Given the description of an element on the screen output the (x, y) to click on. 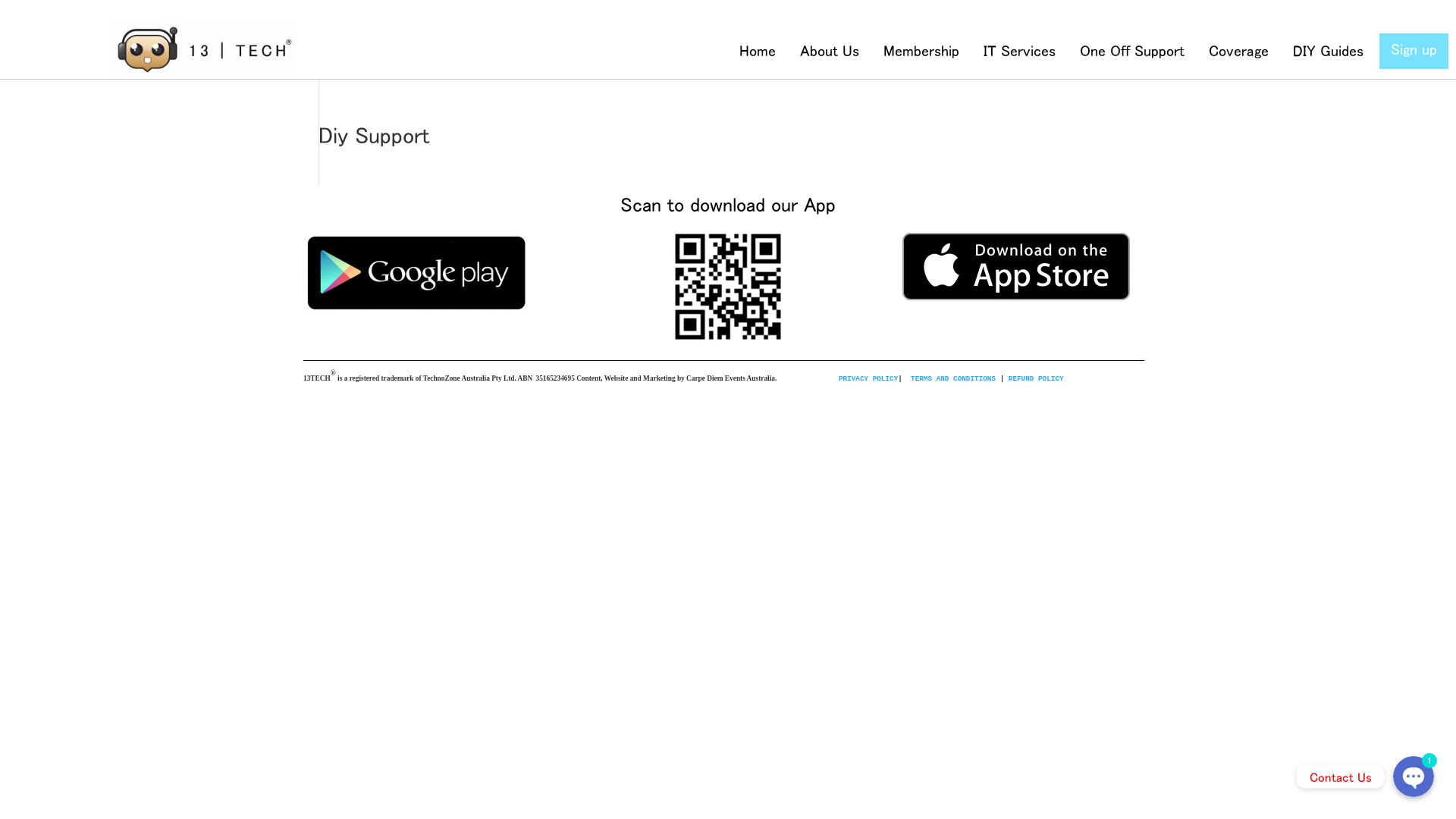
Sign up Element type: text (1413, 49)
IT Services Element type: text (1019, 51)
About Us Element type: text (829, 51)
Home Element type: text (757, 51)
Membership Element type: text (921, 51)
REFUND POLICY Element type: text (1035, 378)
One Off Support Element type: text (1131, 51)
Coverage Element type: text (1238, 51)
PRIVACY POLICY Element type: text (867, 378)
TERMS AND CONDITIONS Element type: text (952, 378)
DIY Guides Element type: text (1327, 51)
